Given the description of an element on the screen output the (x, y) to click on. 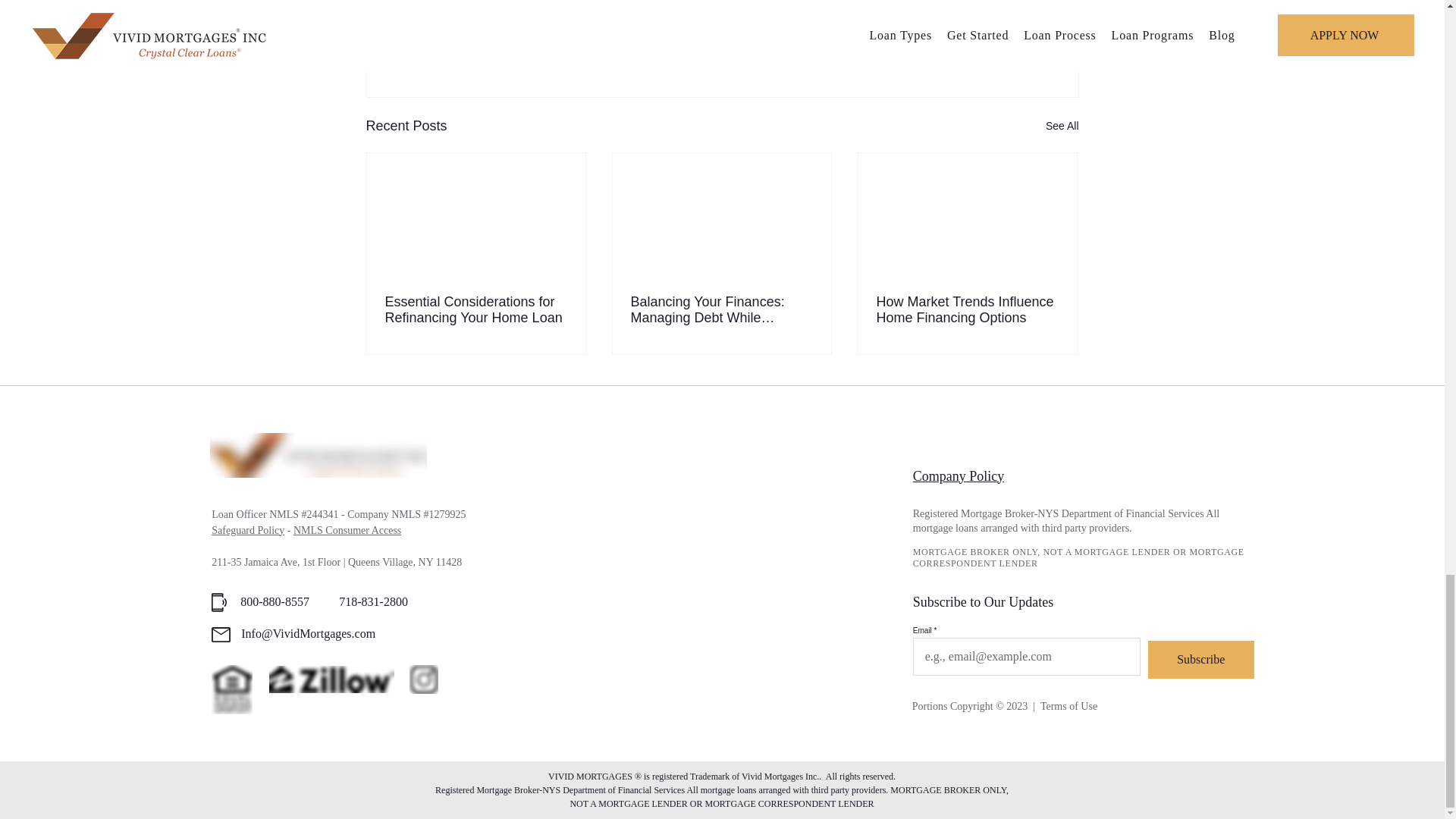
718-831-2800 (373, 601)
See All (1061, 126)
NMLS Consumer Access (347, 530)
How Market Trends Influence Home Financing Options (967, 309)
Terms of Use (1069, 706)
Essential Considerations for Refinancing Your Home Loan (476, 309)
Safeguard Policy (247, 530)
Subscribe (1200, 659)
Company Policy (958, 476)
800-880-8557  (276, 601)
